Given the description of an element on the screen output the (x, y) to click on. 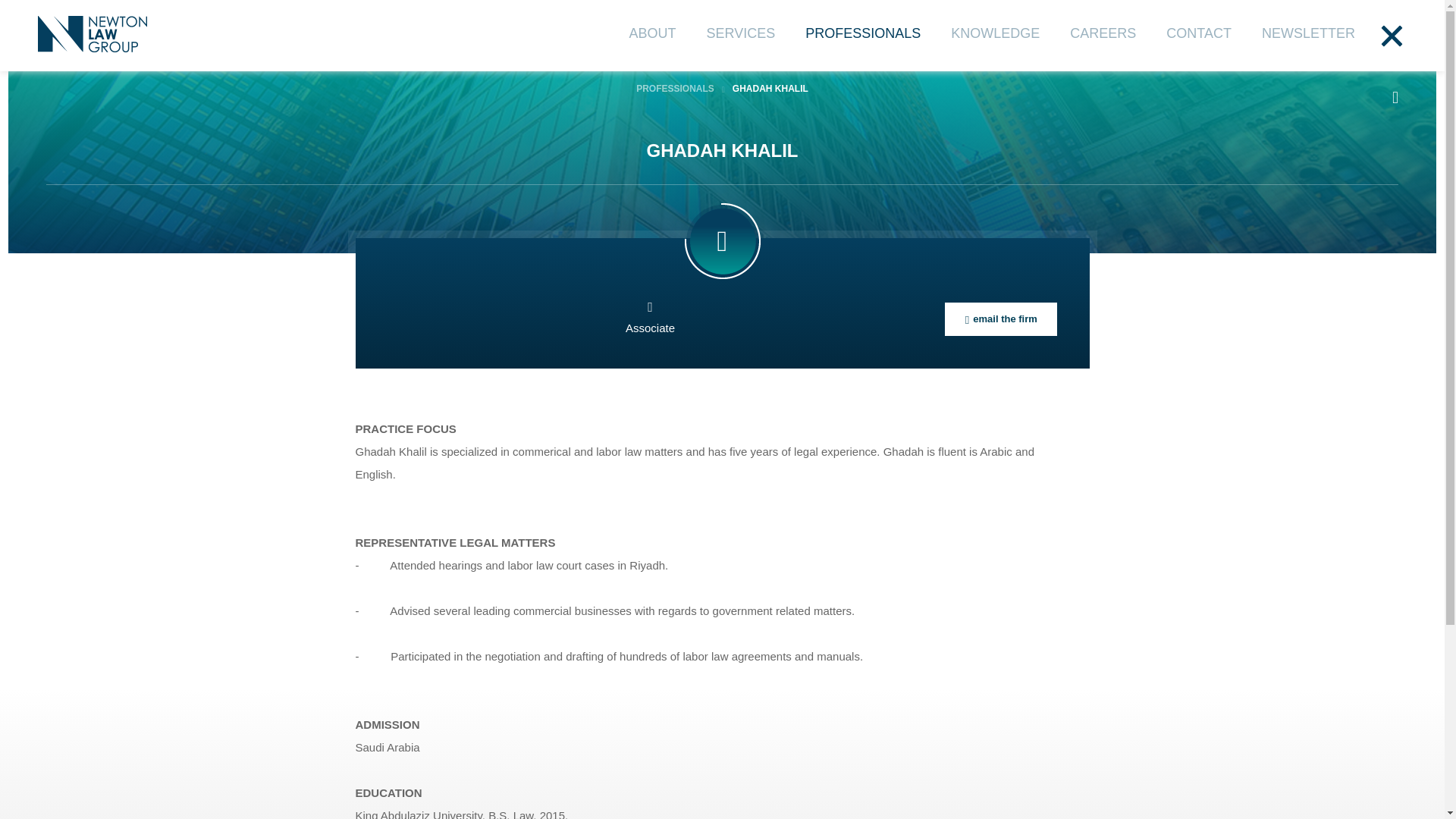
KNOWLEDGE (994, 32)
PROFESSIONALS (675, 88)
Newton Law Group (92, 35)
SERVICES (741, 32)
PROFESSIONALS (862, 32)
ABOUT (651, 32)
NEWSLETTER (1308, 32)
CAREERS (1102, 32)
CONTACT (1198, 32)
email the firm (1000, 318)
